Given the description of an element on the screen output the (x, y) to click on. 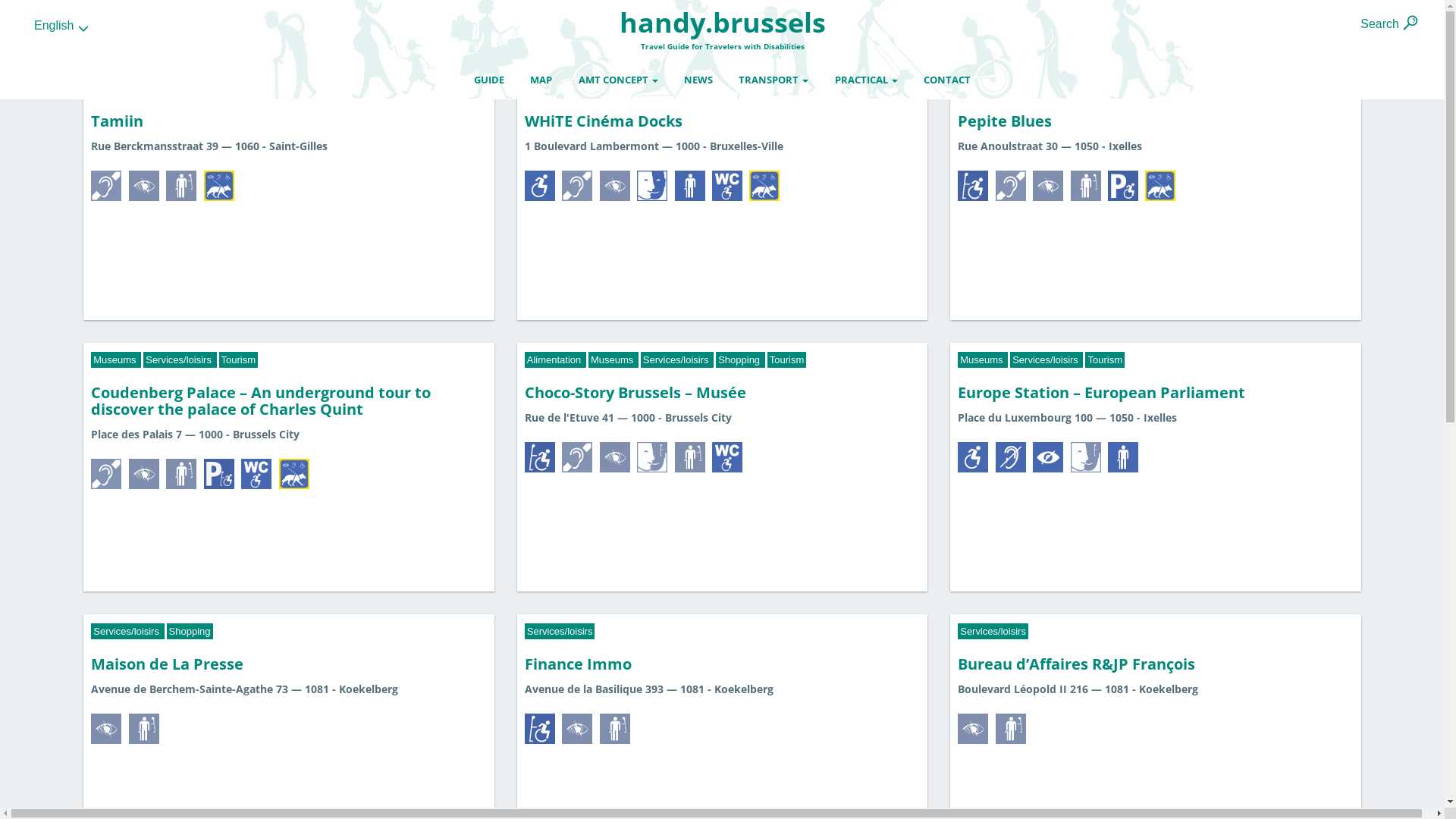
MAP Element type: text (540, 79)
Search Element type: text (1379, 23)
CONTACT Element type: text (947, 79)
AMT CONCEPT Element type: text (618, 79)
TRANSPORT Element type: text (773, 79)
GUIDE Element type: text (488, 79)
English Element type: text (62, 25)
PRACTICAL Element type: text (866, 79)
NEWS Element type: text (698, 79)
